Given the description of an element on the screen output the (x, y) to click on. 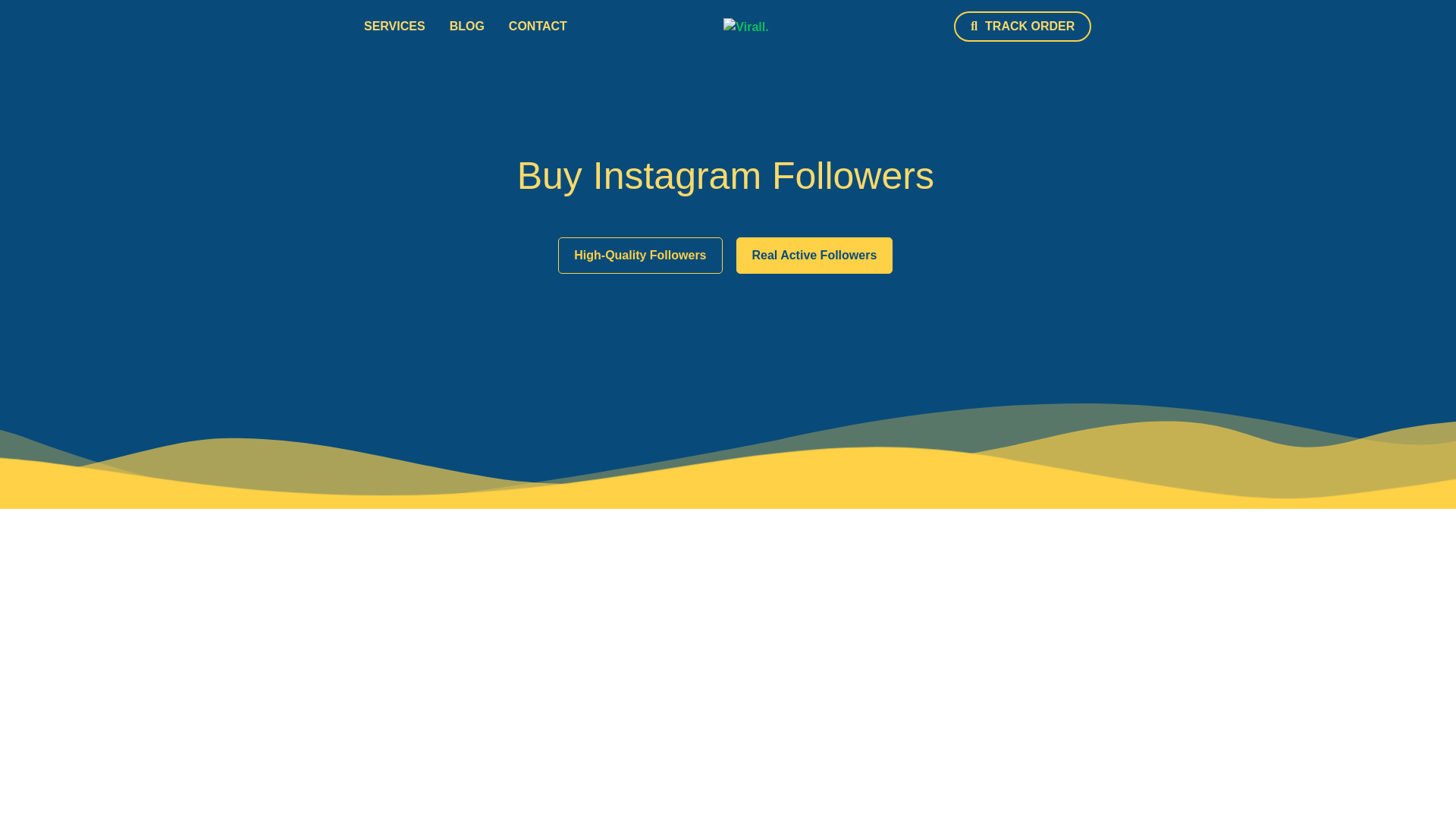
SERVICES (394, 26)
